Given the description of an element on the screen output the (x, y) to click on. 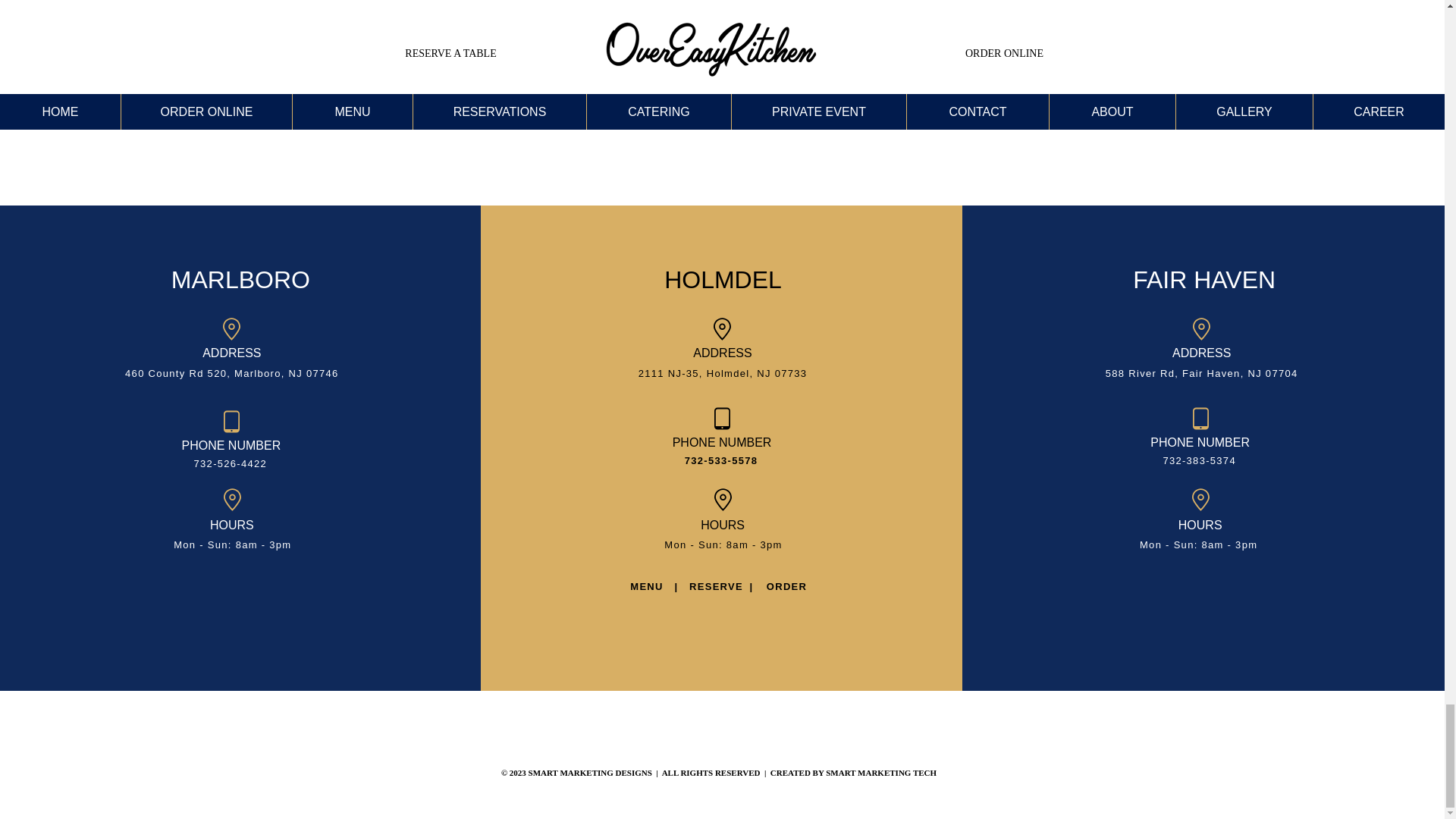
RESERVE (715, 586)
460 County Rd 520, Marlboro, NJ 07746 (232, 373)
2111 NJ-35, Holmdel, NJ 07733 (723, 373)
588 River Rd, Fair Haven, NJ 07704 (1201, 373)
732-383-5374 (1198, 460)
732-526-4422 (230, 463)
ORDER (786, 586)
732-533-5578 (721, 460)
MENU (646, 586)
